Given the description of an element on the screen output the (x, y) to click on. 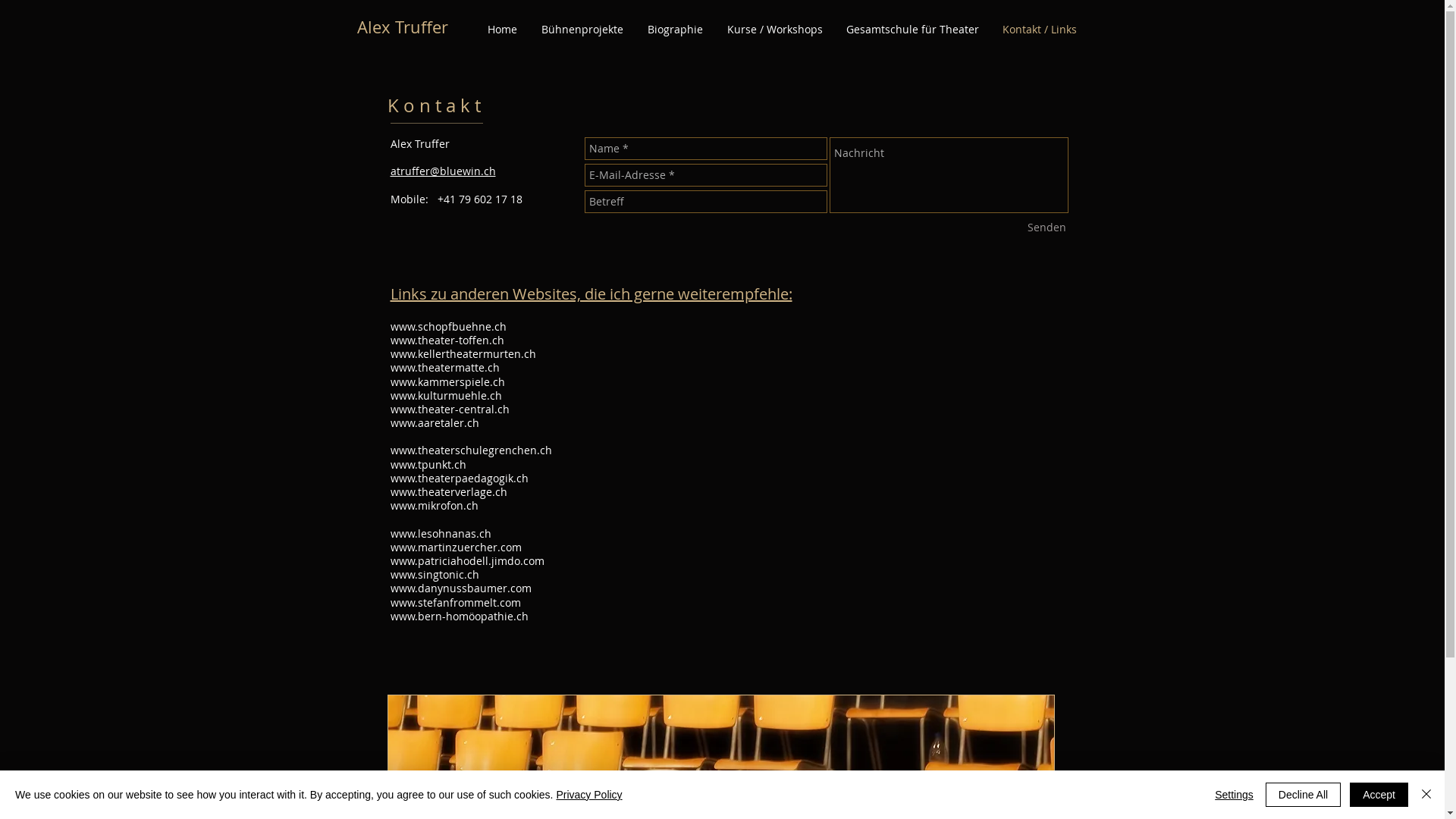
www.patriciahodell.jimdo.com Element type: text (466, 560)
Ale Element type: text (368, 26)
www.kellertheatermurten.ch Element type: text (462, 353)
Privacy Policy Element type: text (588, 794)
Accept Element type: text (1378, 794)
www.danynussbaumer.com Element type: text (459, 587)
www.theaterschulegrenchen.ch Element type: text (470, 449)
www.schopfbuehne.ch Element type: text (447, 326)
Decline All Element type: text (1302, 794)
www.kammerspiele.ch Element type: text (446, 381)
www.kulturmuehle.ch Element type: text (445, 395)
Kontakt / Links Element type: text (1039, 28)
www.stefanfrommelt.com Element type: text (454, 602)
Kurse / Workshops Element type: text (774, 28)
www.theatermatte.ch Element type: text (443, 367)
www.aaretaler.ch Element type: text (433, 422)
atruffer@bluewin.ch Element type: text (442, 170)
www.mikrofon.ch Element type: text (433, 505)
www.theaterverlage.ch Element type: text (447, 491)
www.lesohnanas.ch Element type: text (439, 533)
www.tpunkt.ch  Element type: text (428, 464)
+41 79 602 17 18 Element type: text (477, 198)
www.theater-toffen.ch Element type: text (446, 339)
www.singtonic.ch Element type: text (433, 574)
Home Element type: text (501, 28)
Senden Element type: text (1046, 227)
Biographie Element type: text (675, 28)
www.theater-central.ch Element type: text (448, 408)
www.theaterpaedagogik.ch Element type: text (458, 477)
www.martinzuercher.com Element type: text (454, 546)
